Given the description of an element on the screen output the (x, y) to click on. 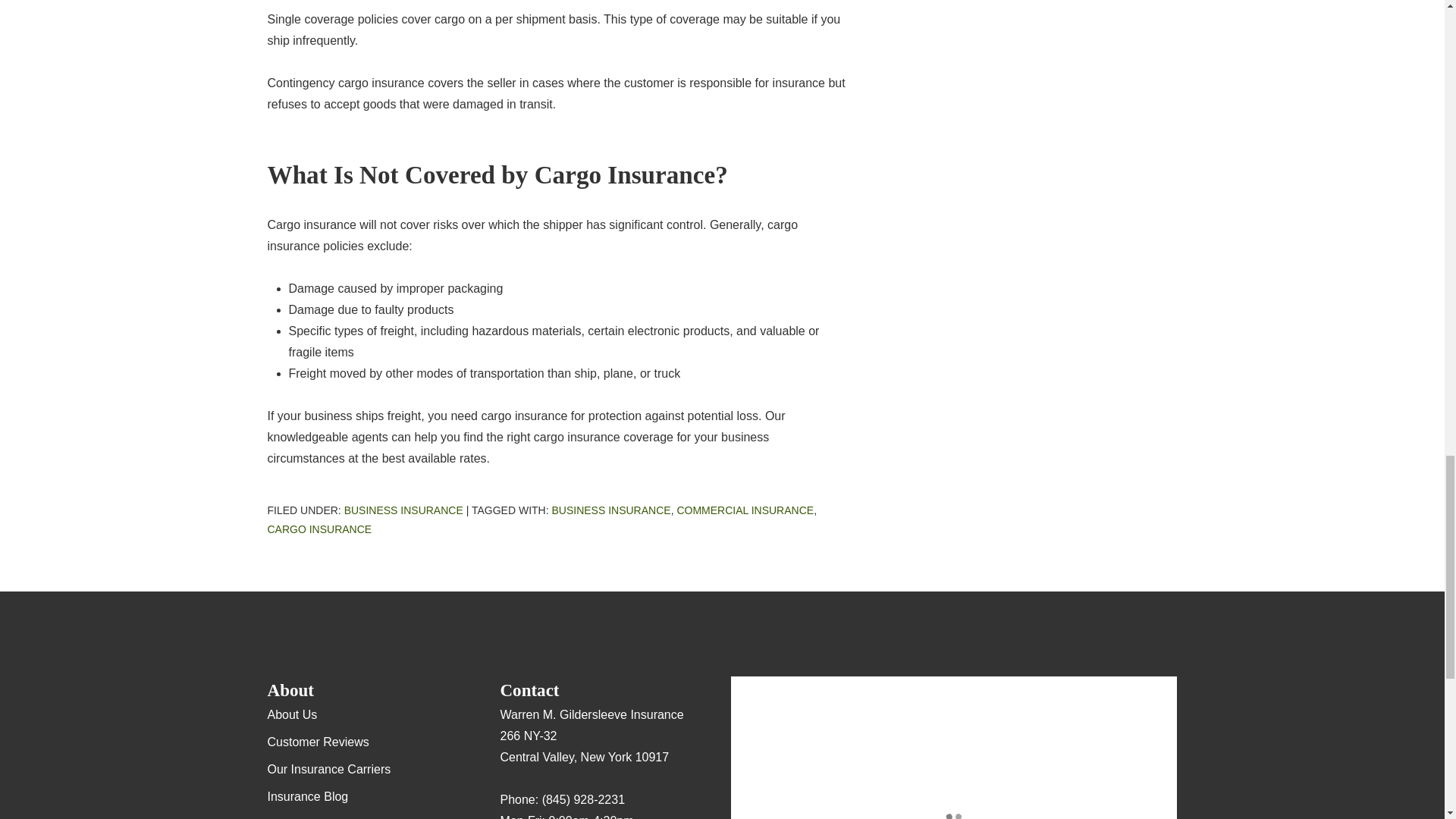
Commercial Insurance (745, 510)
Cargo Insurance (318, 529)
Business Insurance (403, 510)
Business Insurance (610, 510)
